Given the description of an element on the screen output the (x, y) to click on. 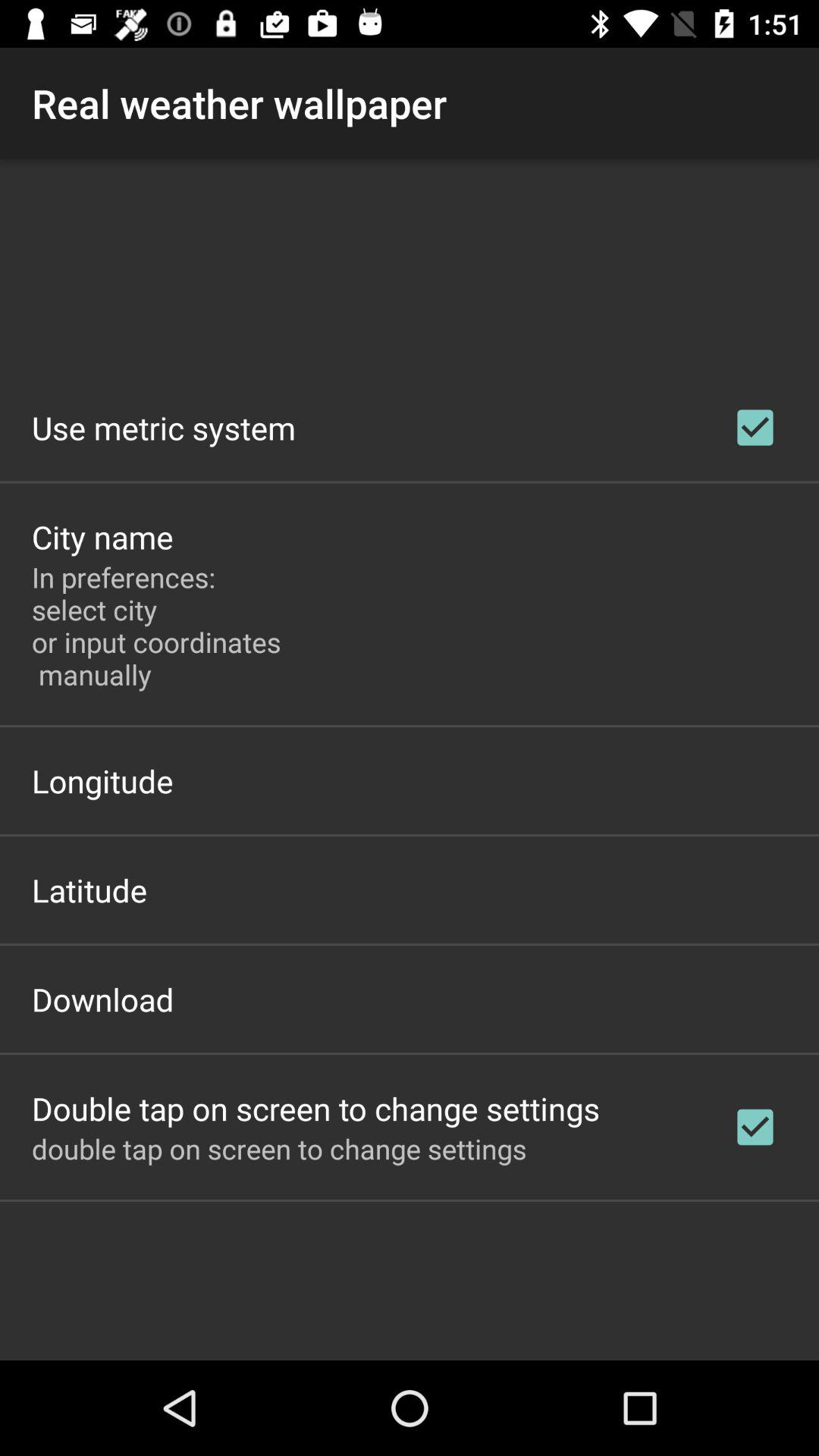
flip to the download app (102, 998)
